Given the description of an element on the screen output the (x, y) to click on. 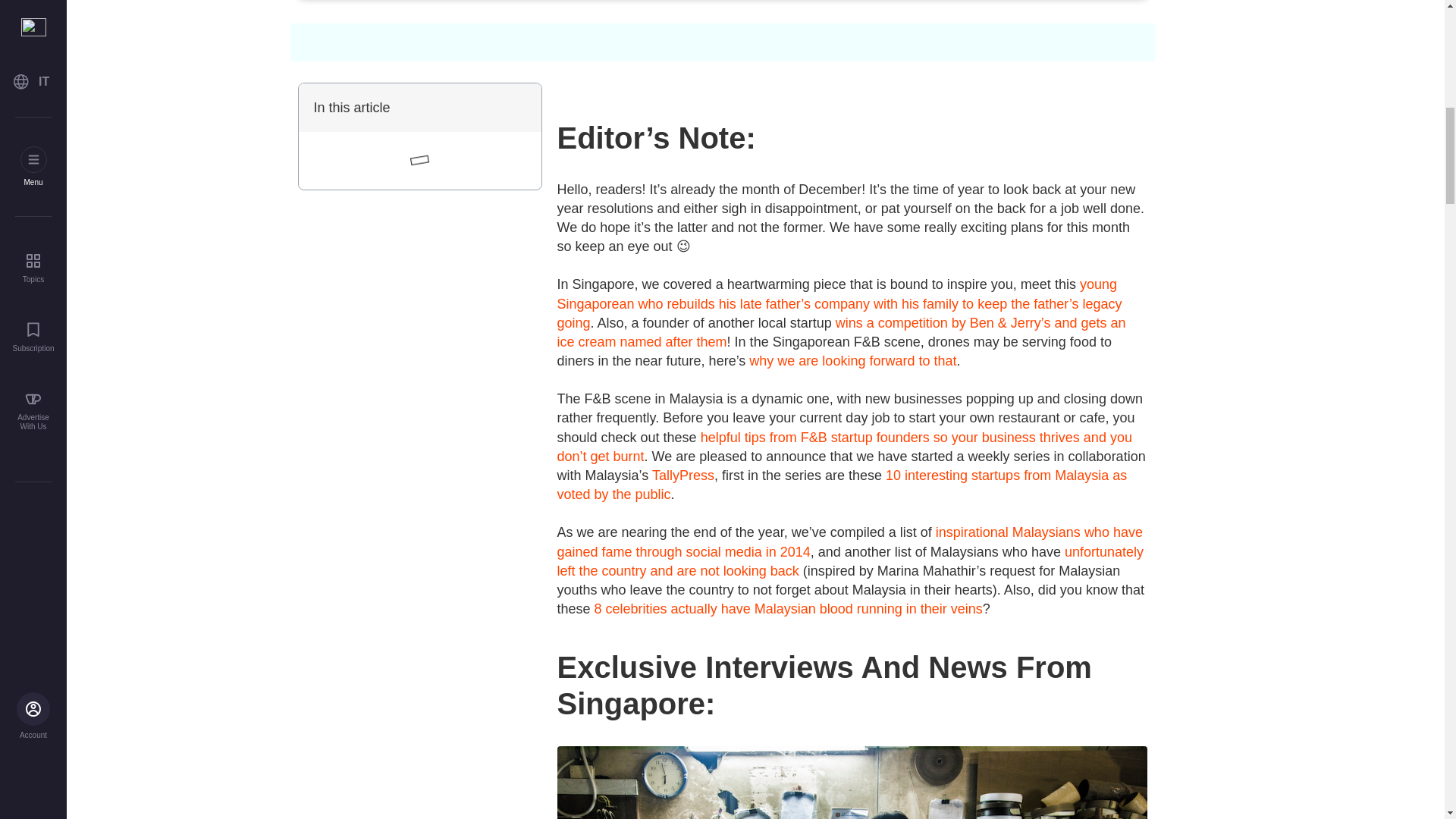
why we are looking forward to that (850, 360)
unfortunately left the country and are not looking back (849, 561)
10 interesting startups from Malaysia as voted by the public (841, 484)
TallyPress (683, 475)
